Given the description of an element on the screen output the (x, y) to click on. 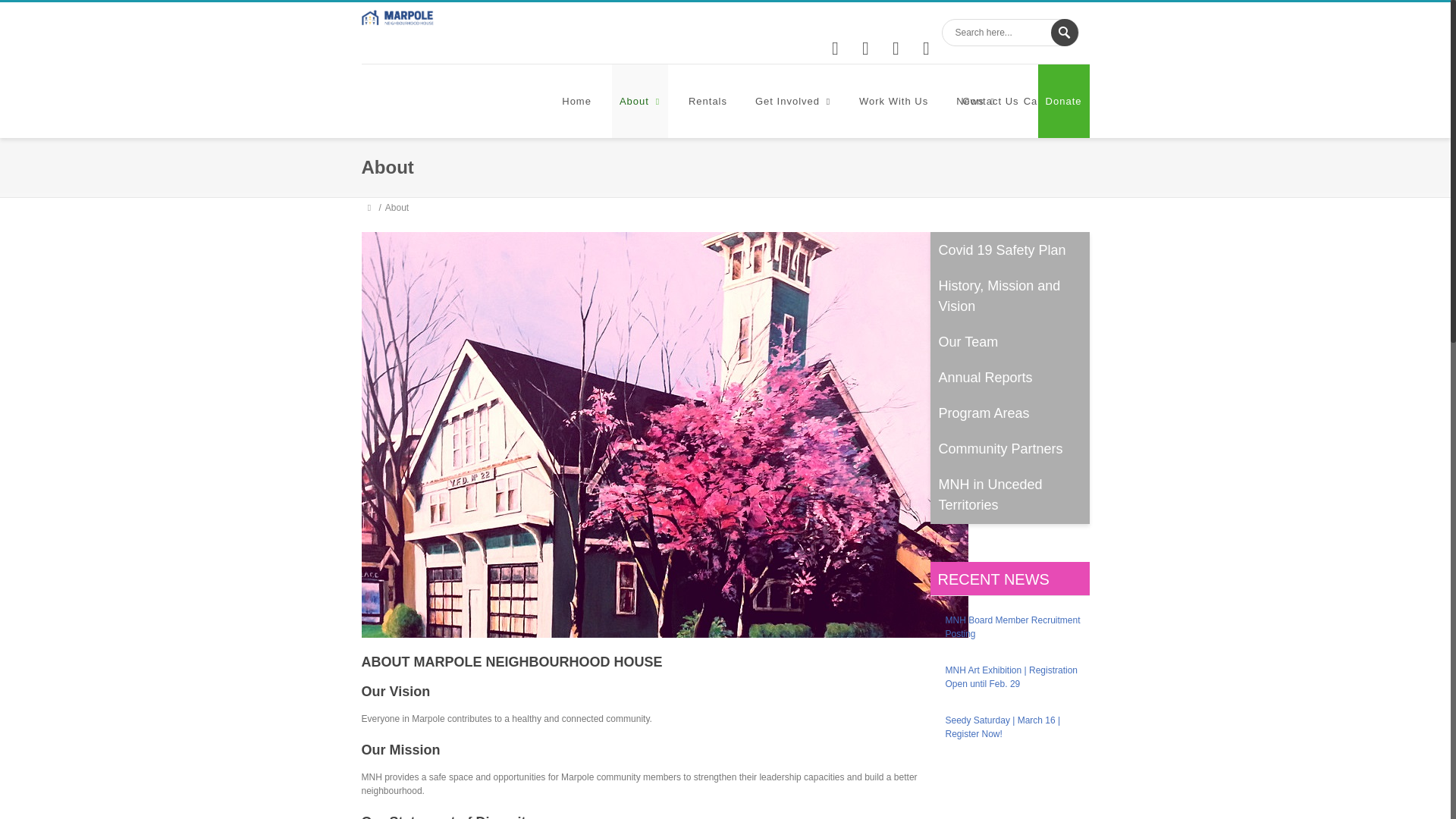
submit (1064, 31)
Work With Us (893, 101)
submit (1064, 31)
Marpole Neighbourhood House (396, 17)
Calendar (1052, 101)
Get Involved (793, 101)
Contact Us (990, 101)
